Given the description of an element on the screen output the (x, y) to click on. 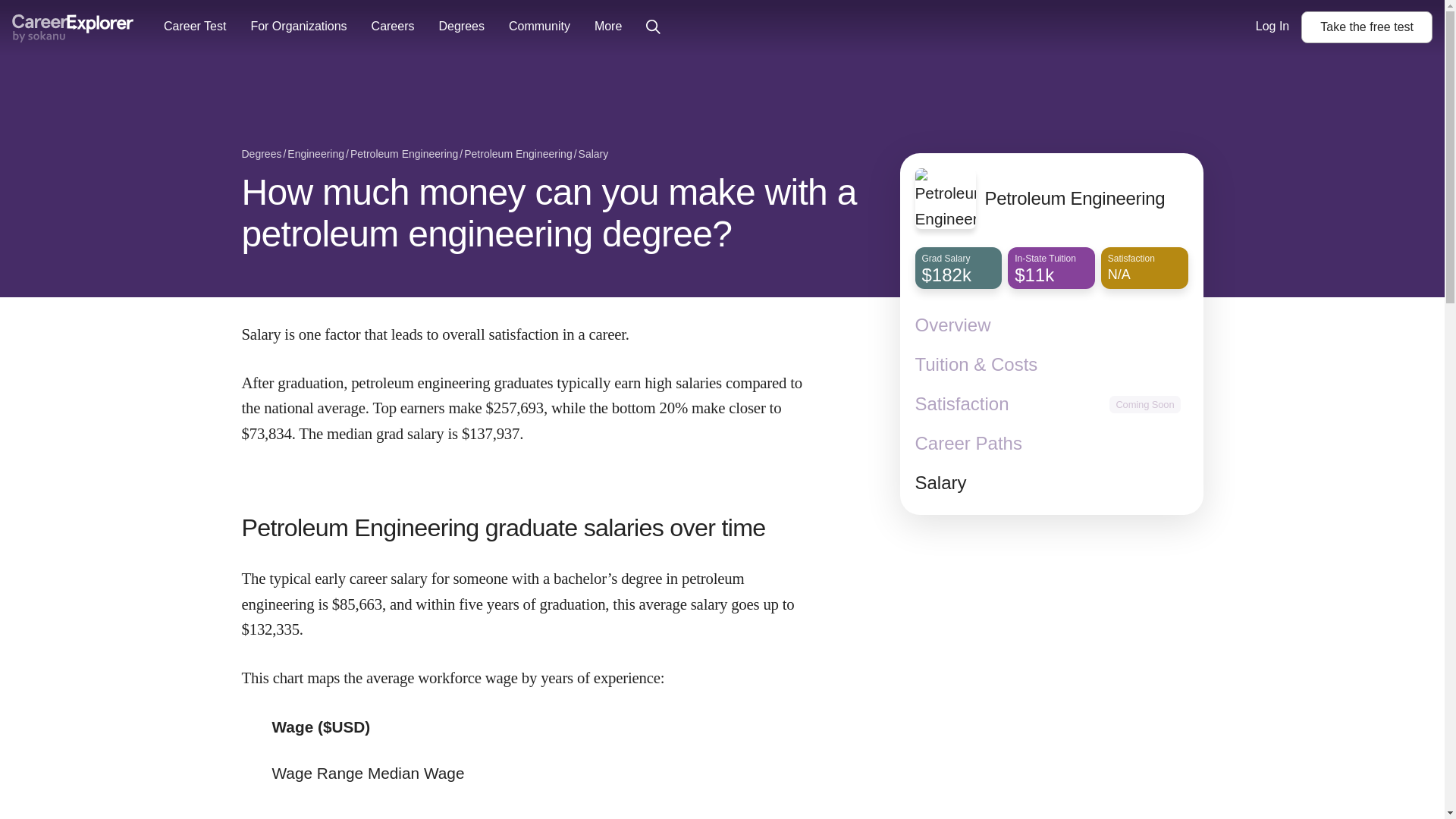
Salary (1051, 482)
For Organizations (298, 27)
Engineering (314, 154)
Petroleum Engineering (404, 154)
Salary (593, 154)
Petroleum Engineering (518, 154)
Overview (1051, 324)
CareerExplorer (72, 28)
Career Paths (1366, 26)
